Given the description of an element on the screen output the (x, y) to click on. 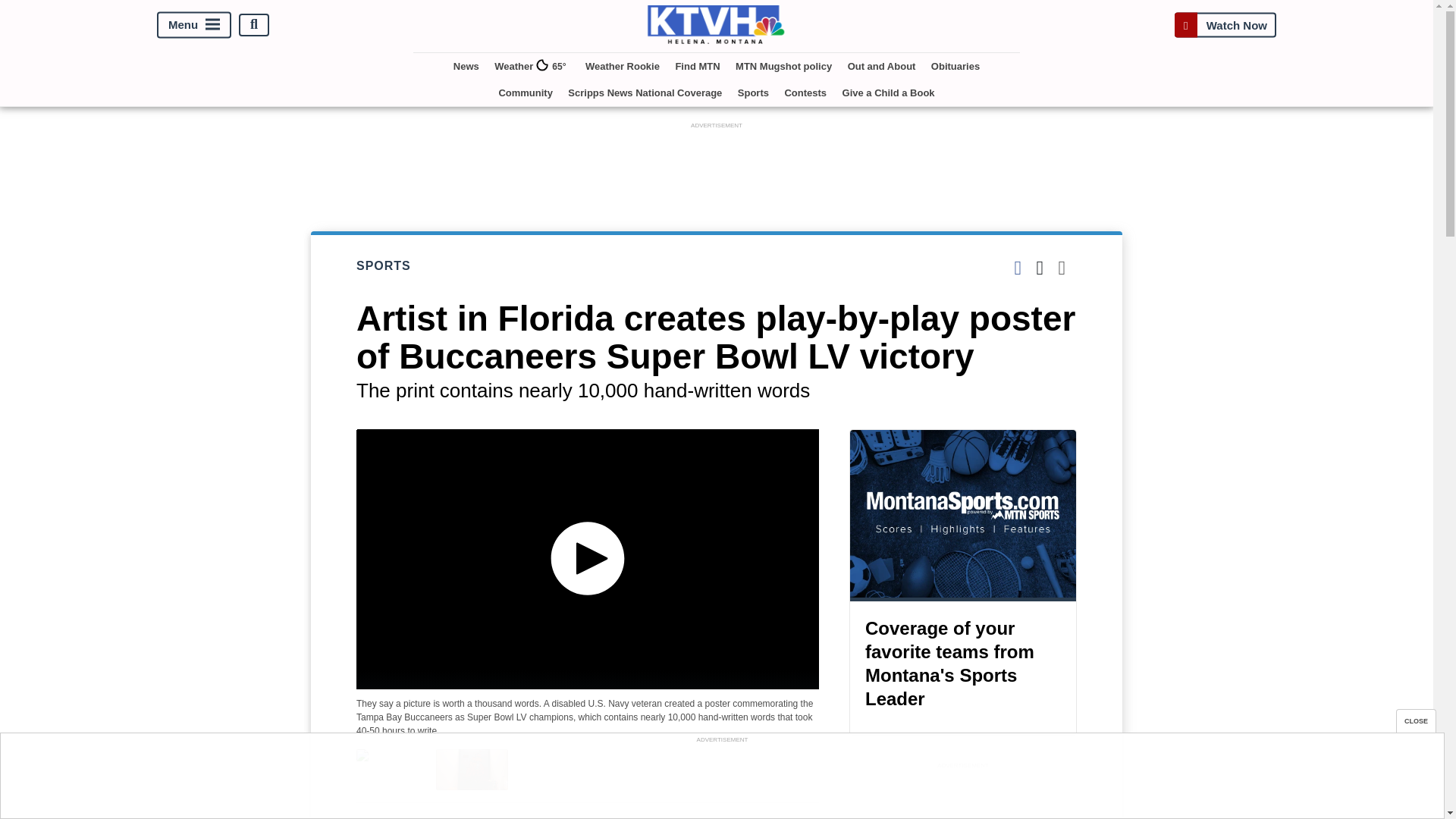
Watch Now (1224, 24)
3rd party ad content (716, 166)
3rd party ad content (721, 780)
3rd party ad content (962, 796)
Menu (194, 24)
